Given the description of an element on the screen output the (x, y) to click on. 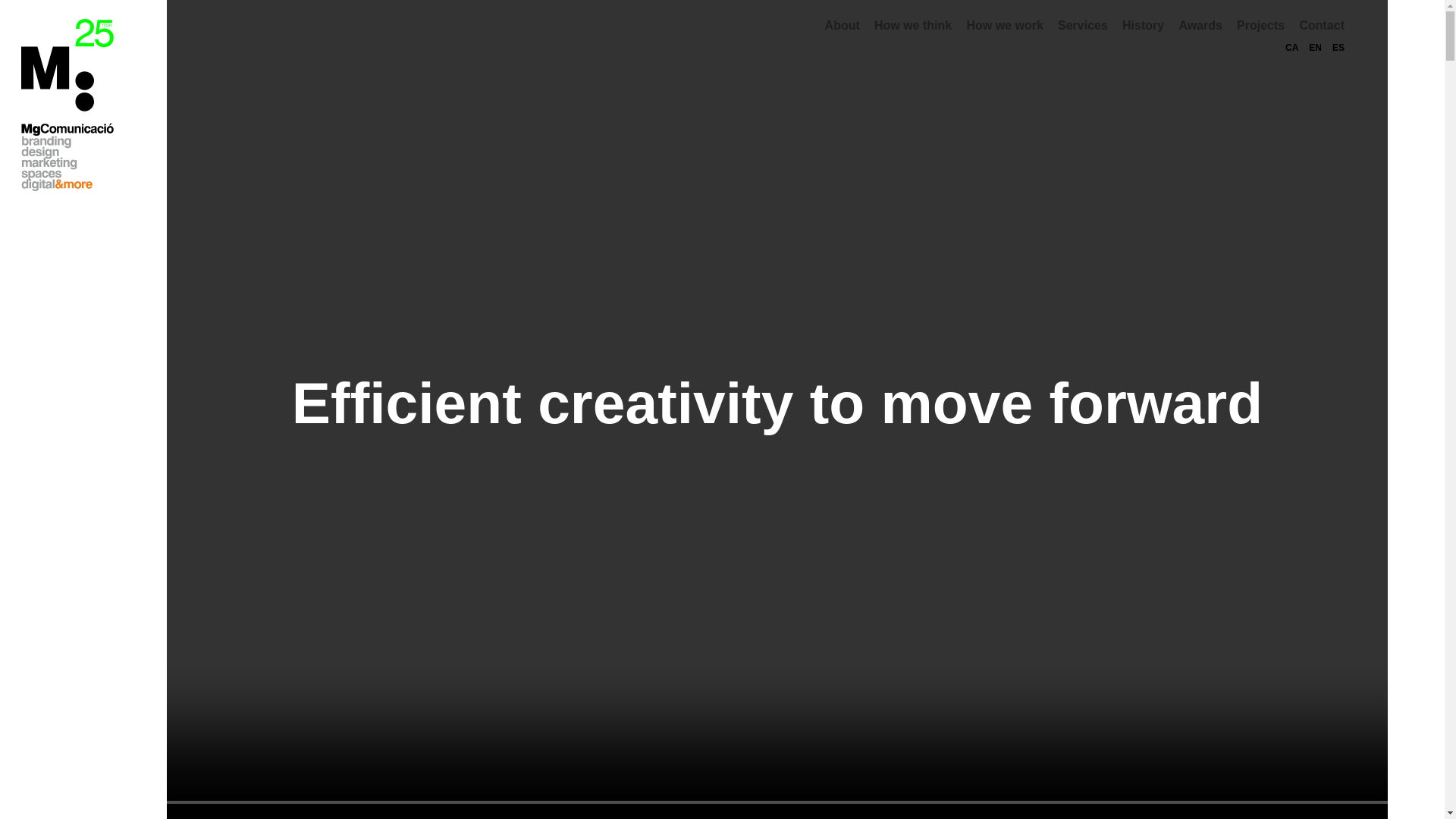
EN (1315, 47)
Services (1083, 24)
How we work (1004, 24)
Projects (1260, 24)
Awards (1200, 24)
ES (1337, 47)
About (842, 24)
Contact (1320, 24)
CA (1291, 47)
How we think (913, 24)
